Given the description of an element on the screen output the (x, y) to click on. 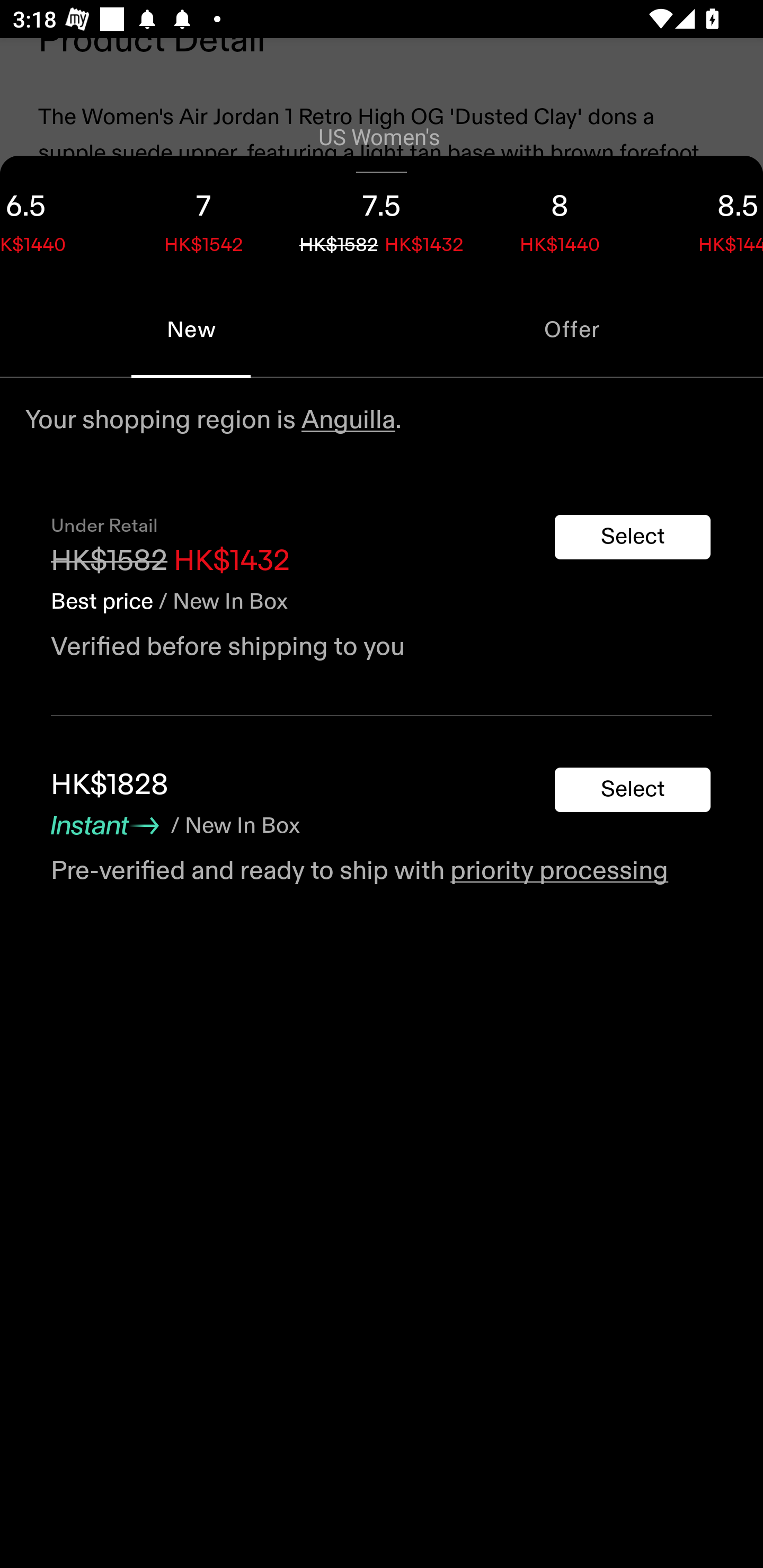
6.5 HK$1440 (57, 218)
7 HK$1542 (203, 218)
7.5 HK$1582 HK$1432 (381, 218)
8 HK$1440 (559, 218)
8.5 HK$1447 (705, 218)
Offer (572, 329)
Select (632, 536)
HK$1828 (109, 785)
Select (632, 789)
